Given the description of an element on the screen output the (x, y) to click on. 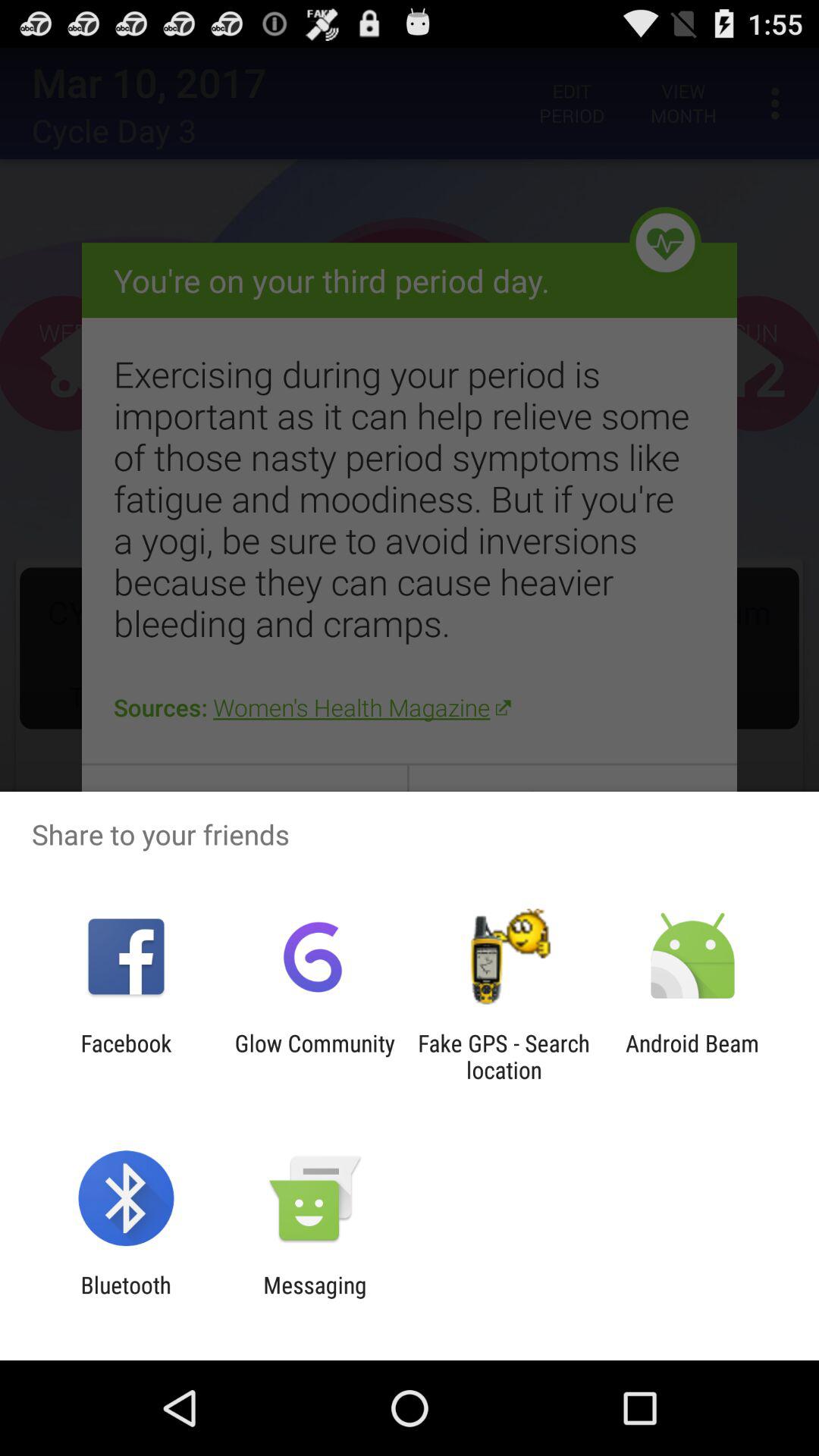
open item next to glow community (503, 1056)
